Given the description of an element on the screen output the (x, y) to click on. 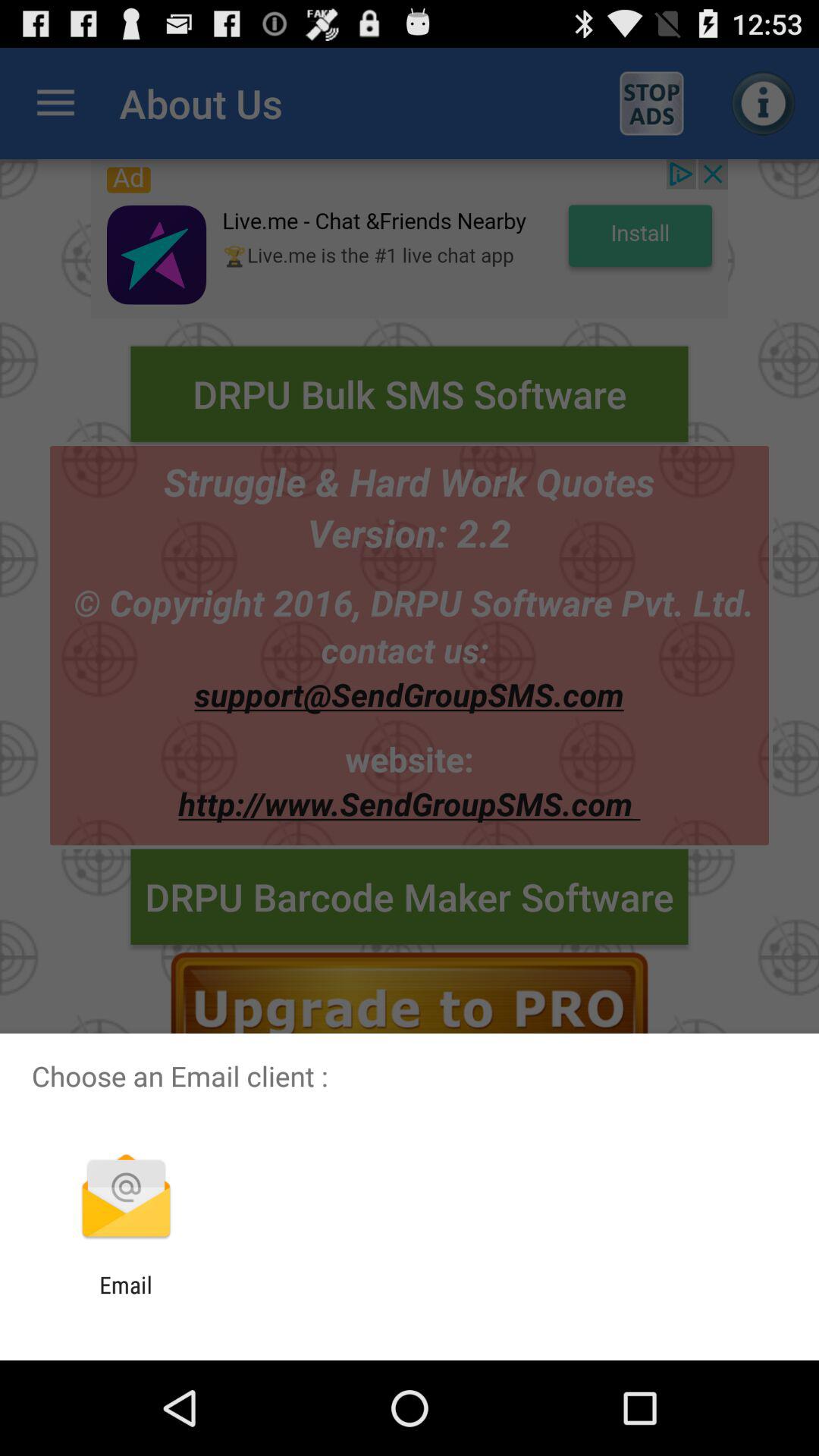
tap app below choose an email (126, 1198)
